Given the description of an element on the screen output the (x, y) to click on. 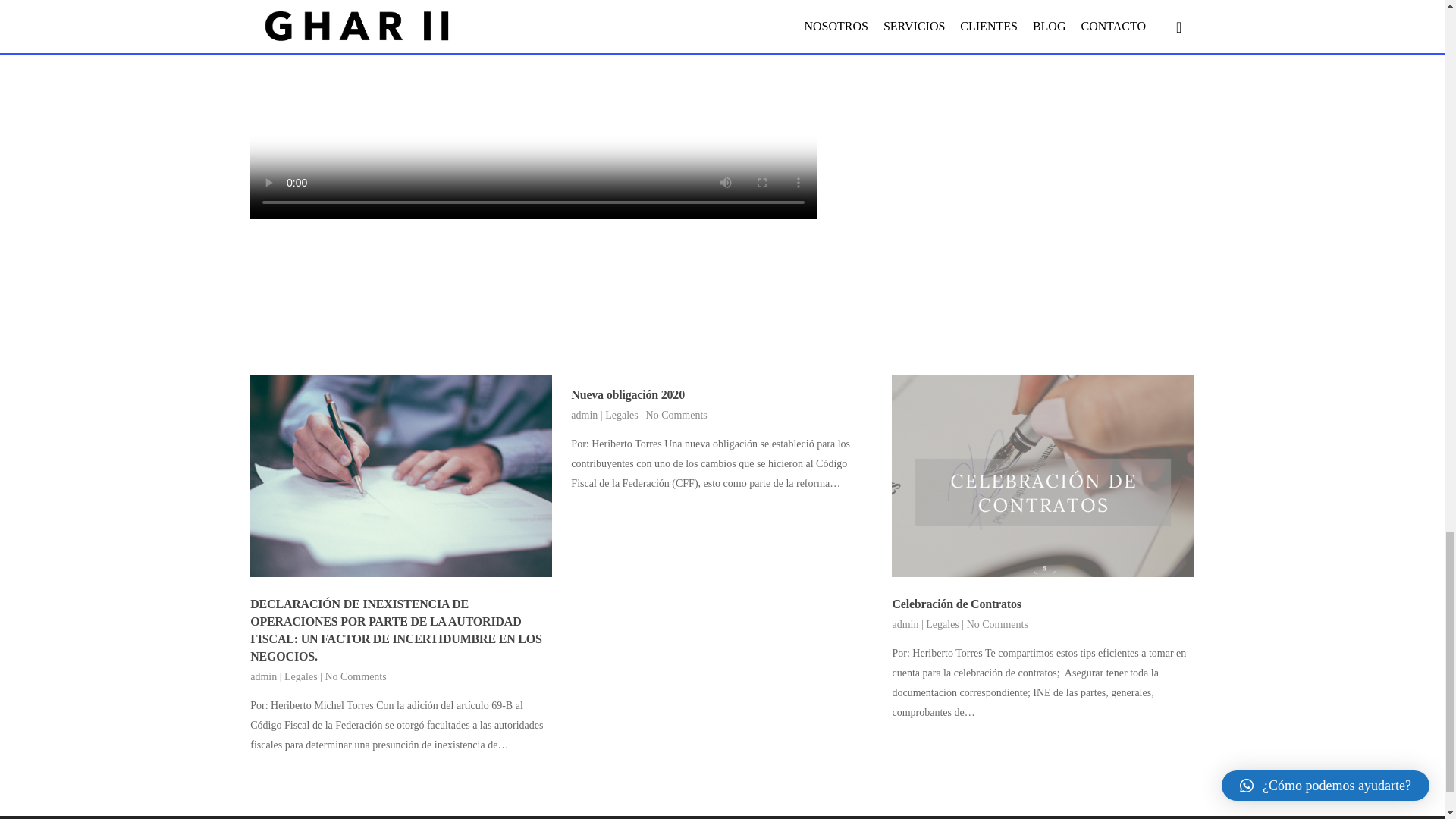
Posts by admin (583, 414)
No Comments (354, 676)
Posts by admin (904, 624)
No Comments (676, 414)
Legales (942, 624)
admin (583, 414)
Legales (300, 676)
Posts by admin (263, 676)
admin (904, 624)
Legales (622, 414)
